Given the description of an element on the screen output the (x, y) to click on. 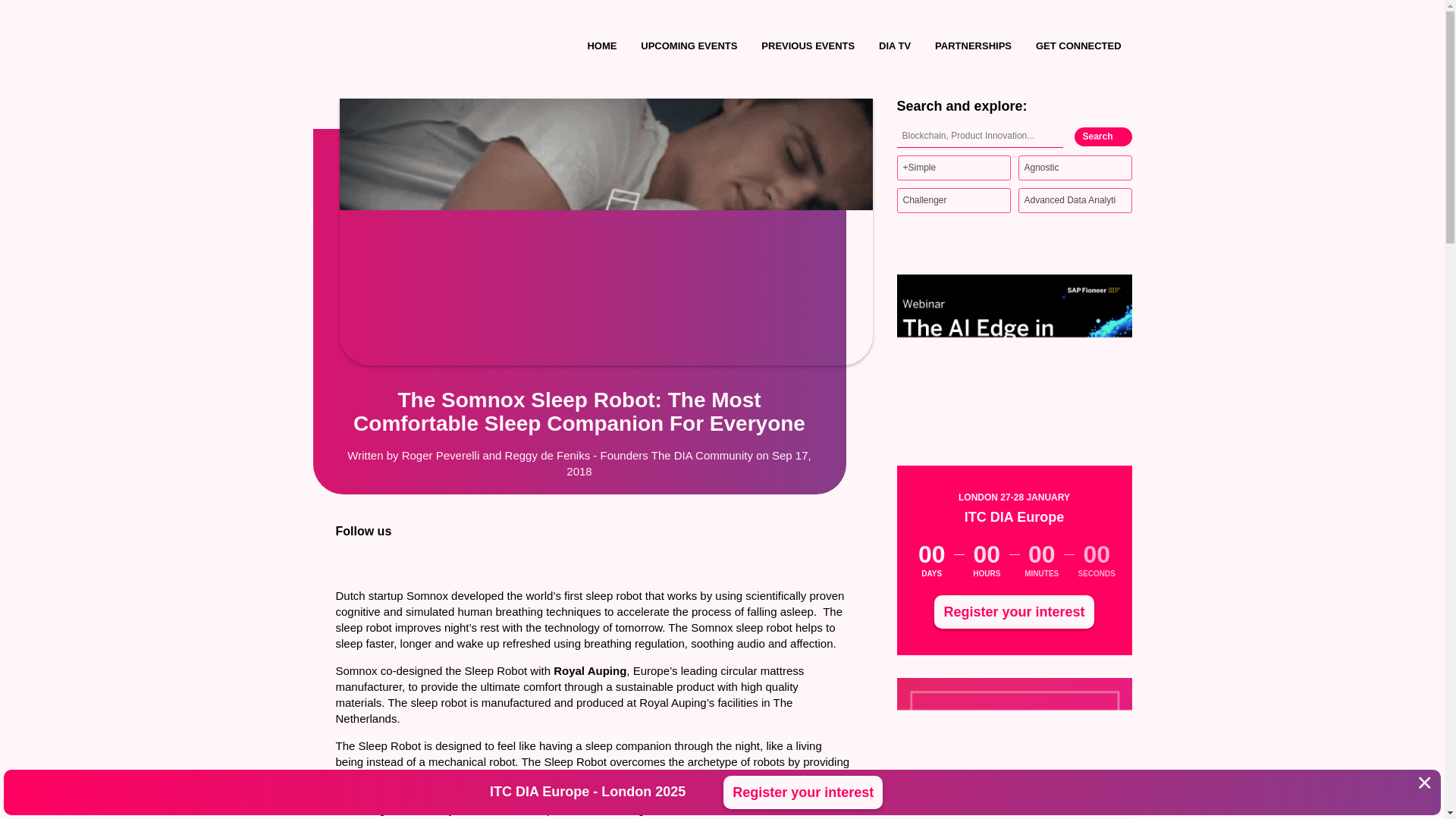
PREVIOUS EVENTS (807, 45)
Twitter (372, 557)
UPCOMING EVENTS (688, 45)
LinkedIn (342, 556)
DIA TV (894, 45)
Home (601, 45)
ITC DIA Europe (448, 45)
ITC DIA Europe (448, 45)
DIA TV (894, 45)
PARTNERSHIPS (972, 45)
